Given the description of an element on the screen output the (x, y) to click on. 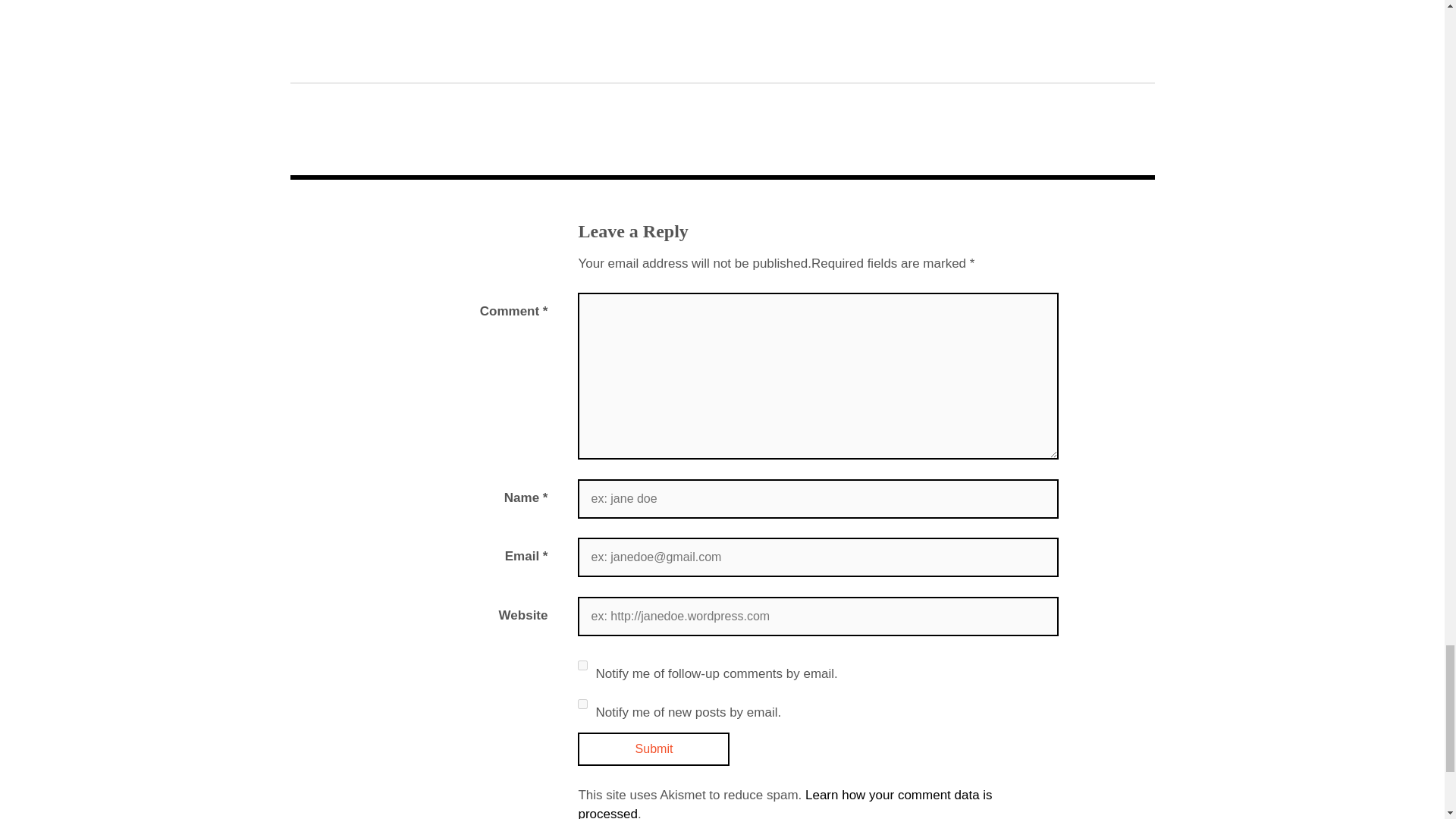
subscribe (583, 704)
subscribe (583, 665)
Submit (653, 748)
Submit (653, 748)
Learn how your comment data is processed (784, 803)
